Given the description of an element on the screen output the (x, y) to click on. 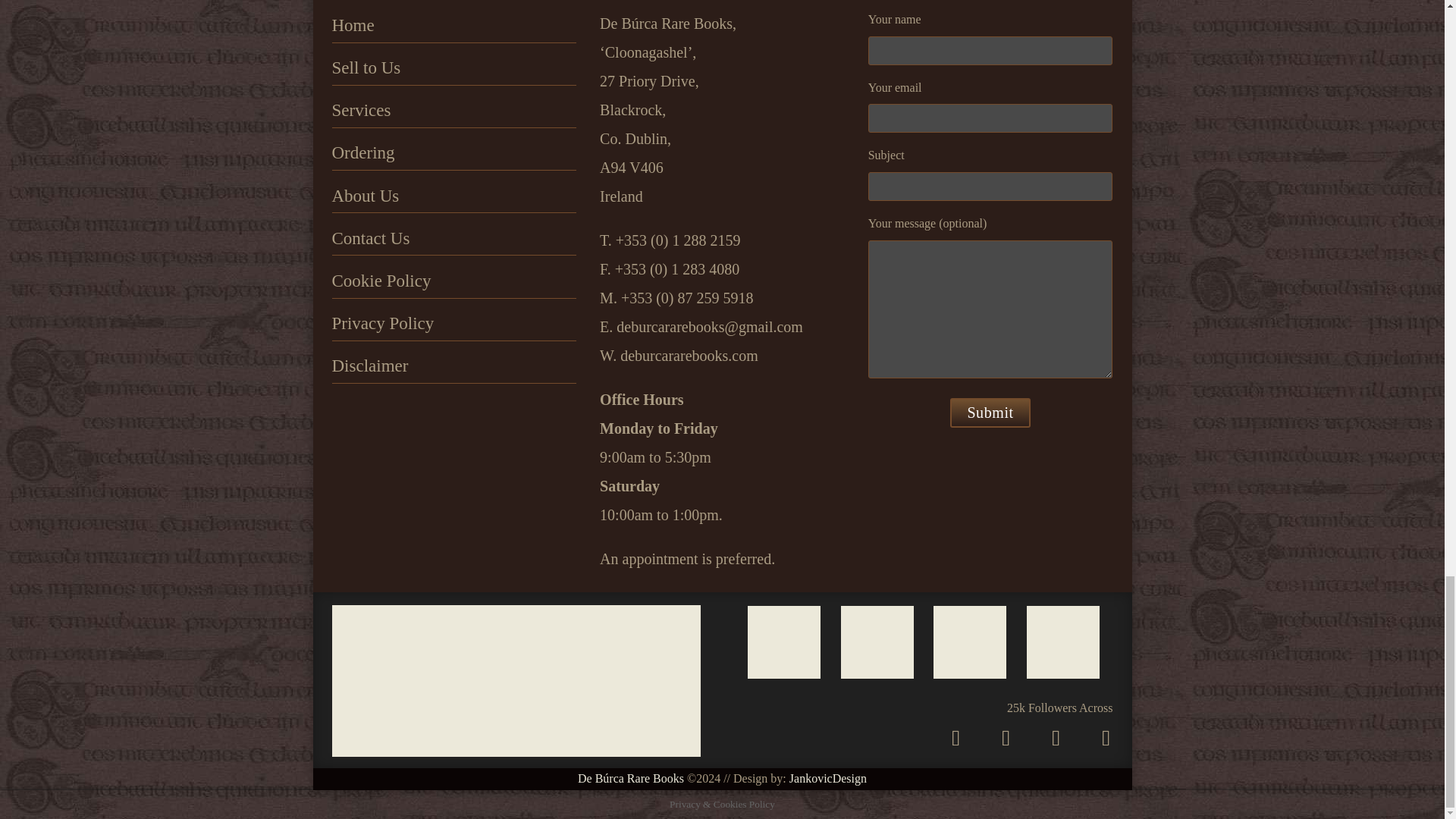
Follow on Youtube (1104, 737)
4-Logos-with-Text-2-350px (516, 680)
Submit (989, 412)
Follow on Facebook (1055, 737)
Follow on Instagram (954, 737)
Follow on X (1005, 737)
